Given the description of an element on the screen output the (x, y) to click on. 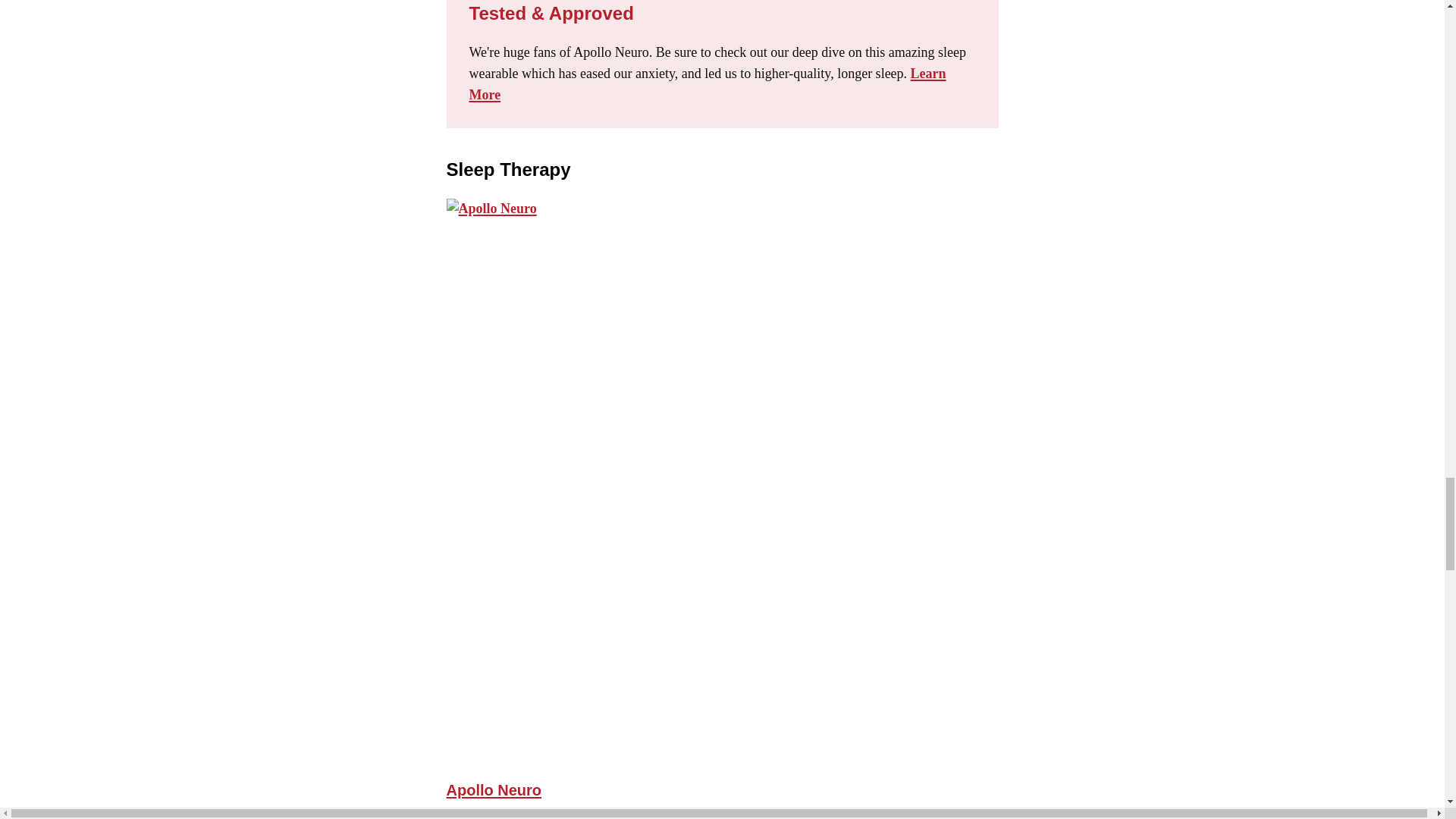
Learn More (706, 84)
Apollo Neuro (493, 790)
